Given the description of an element on the screen output the (x, y) to click on. 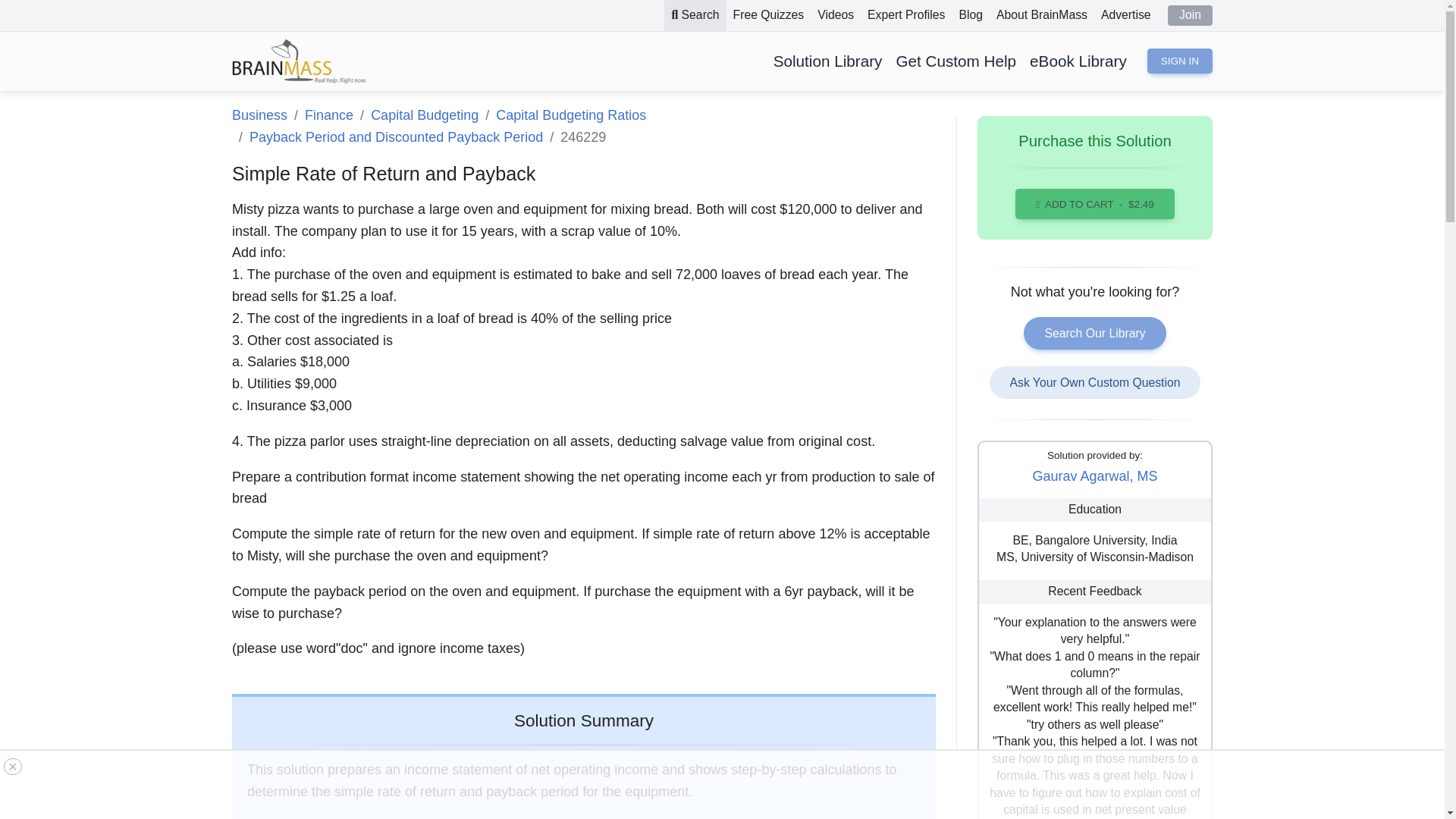
Get Custom Help (955, 60)
Payback Period and Discounted Payback Period (395, 136)
Finance (328, 114)
About BrainMass (1042, 15)
Solution Library (828, 60)
Search (694, 15)
Advertise (1125, 15)
Blog (971, 15)
Expert Profiles (906, 15)
eBook Library (1078, 60)
Capital Budgeting (425, 114)
Capital Budgeting Ratios (571, 114)
Business (258, 114)
SIGN IN (1179, 60)
Videos (835, 15)
